Given the description of an element on the screen output the (x, y) to click on. 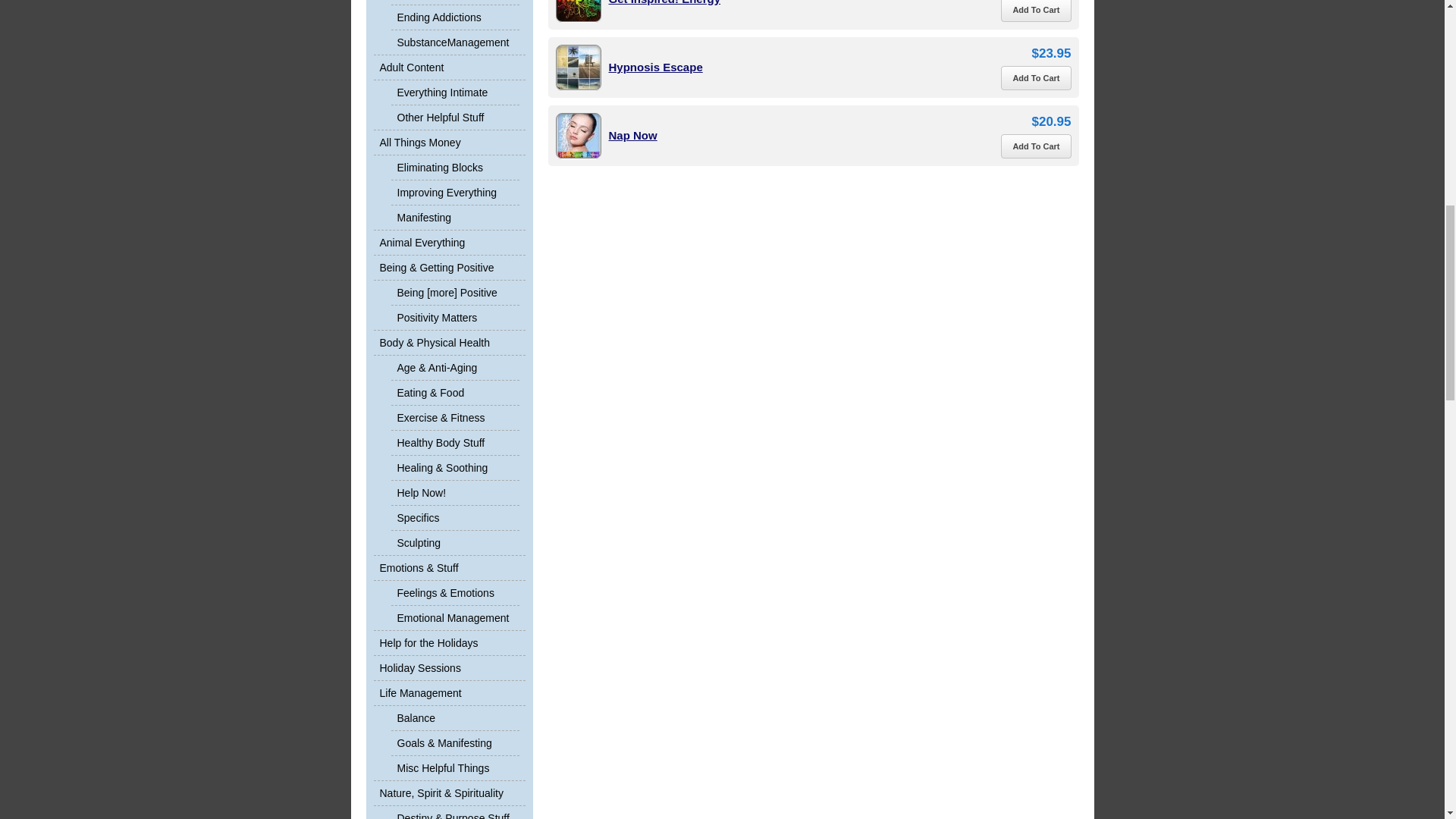
Improving Everything (455, 191)
Other Helpful Stuff (455, 116)
Manifesting (455, 217)
Eliminating Blocks (455, 167)
Positivity Matters (455, 317)
Animal Everything (448, 242)
SubstanceManagement (455, 41)
Adult Content (448, 67)
Everything Intimate (455, 92)
All Things Money (448, 142)
Ending Addictions (455, 16)
Addiction Support (455, 2)
